Given the description of an element on the screen output the (x, y) to click on. 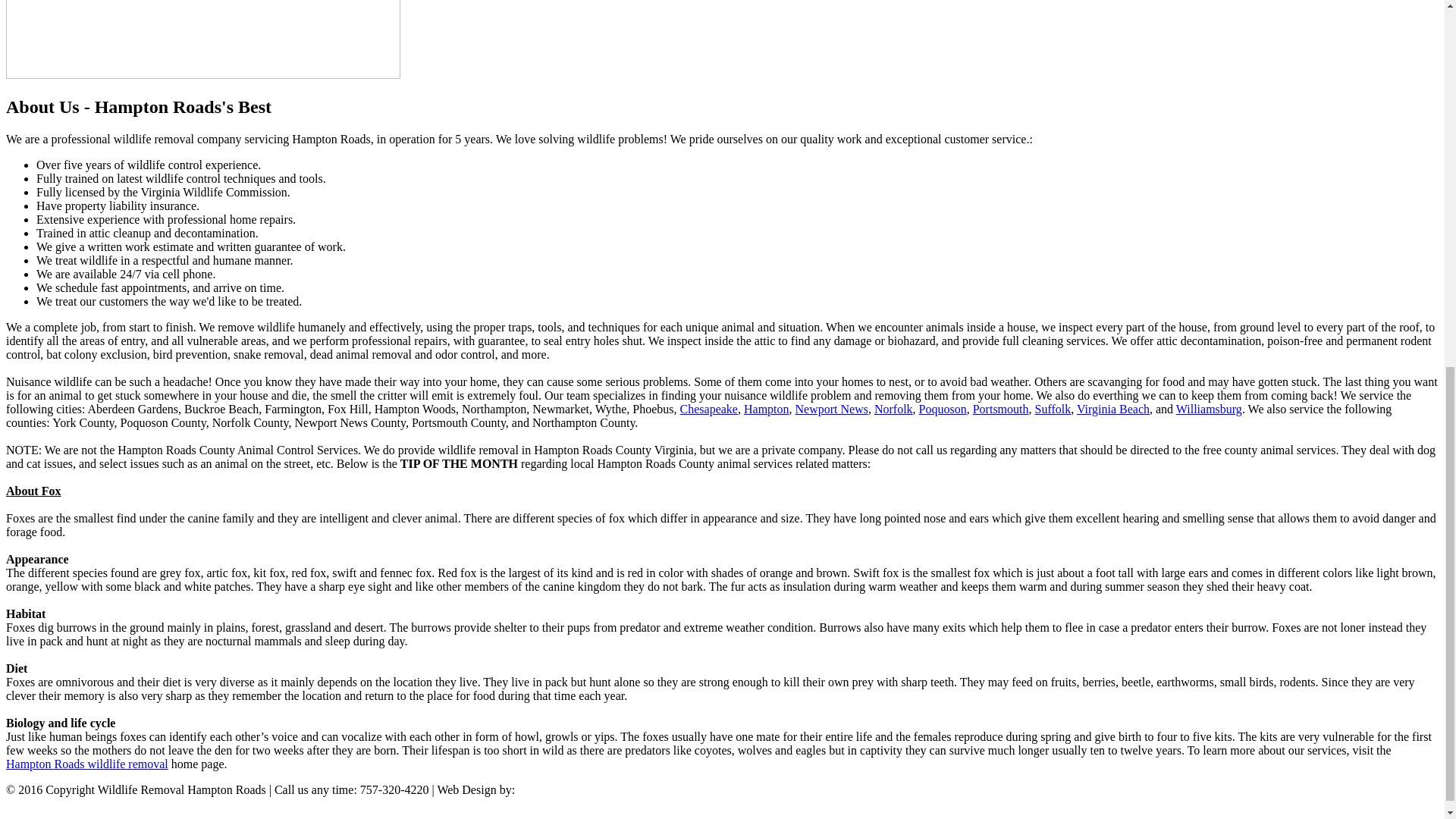
Newport News (830, 408)
Williamsburg (1208, 408)
Hampton (766, 408)
Norfolk (893, 408)
Chesapeake (708, 408)
Virginia Beach (1113, 408)
Portsmouth (1000, 408)
Poquoson (942, 408)
Suffolk (1053, 408)
Hampton Roads wildlife removal (86, 763)
